Given the description of an element on the screen output the (x, y) to click on. 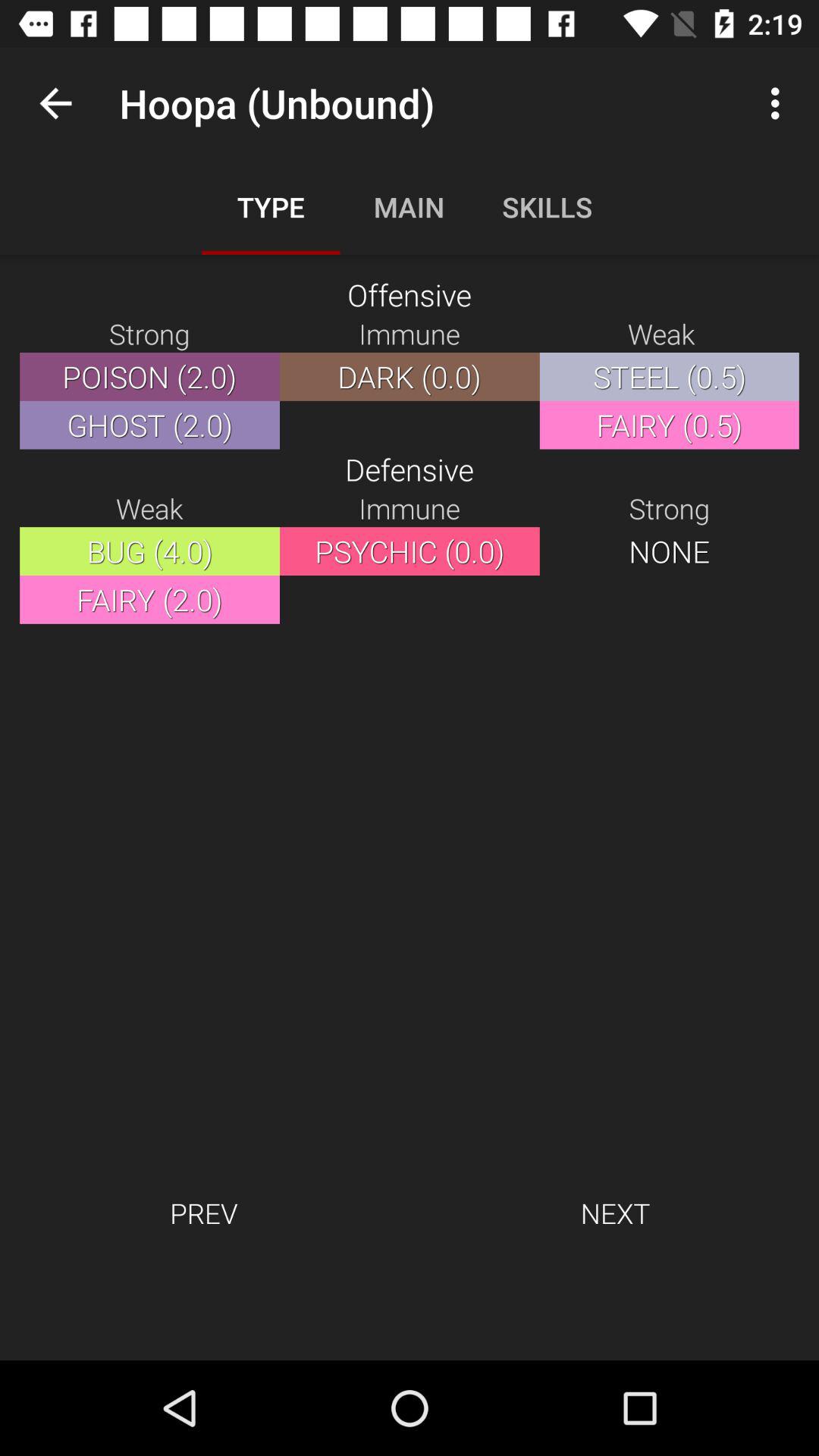
select item next to the hoopa (unbound) app (779, 103)
